Given the description of an element on the screen output the (x, y) to click on. 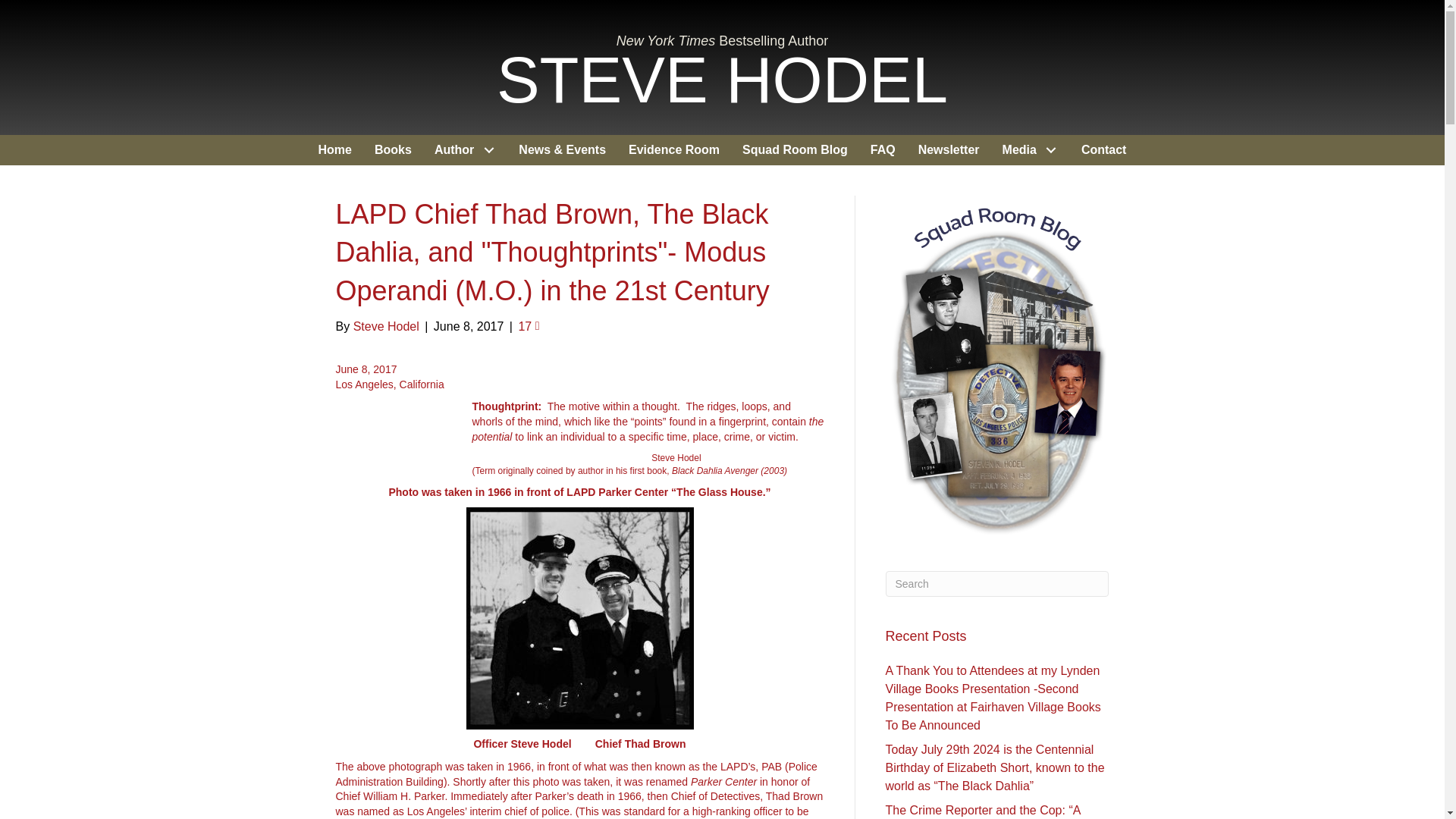
Home (334, 150)
Type and press Enter to search. (997, 583)
17 (528, 326)
Books (392, 150)
Newsletter (949, 150)
Author (464, 150)
Media (1030, 150)
Evidence Room (673, 150)
Squad Room Blog (794, 150)
FAQ (883, 150)
